Given the description of an element on the screen output the (x, y) to click on. 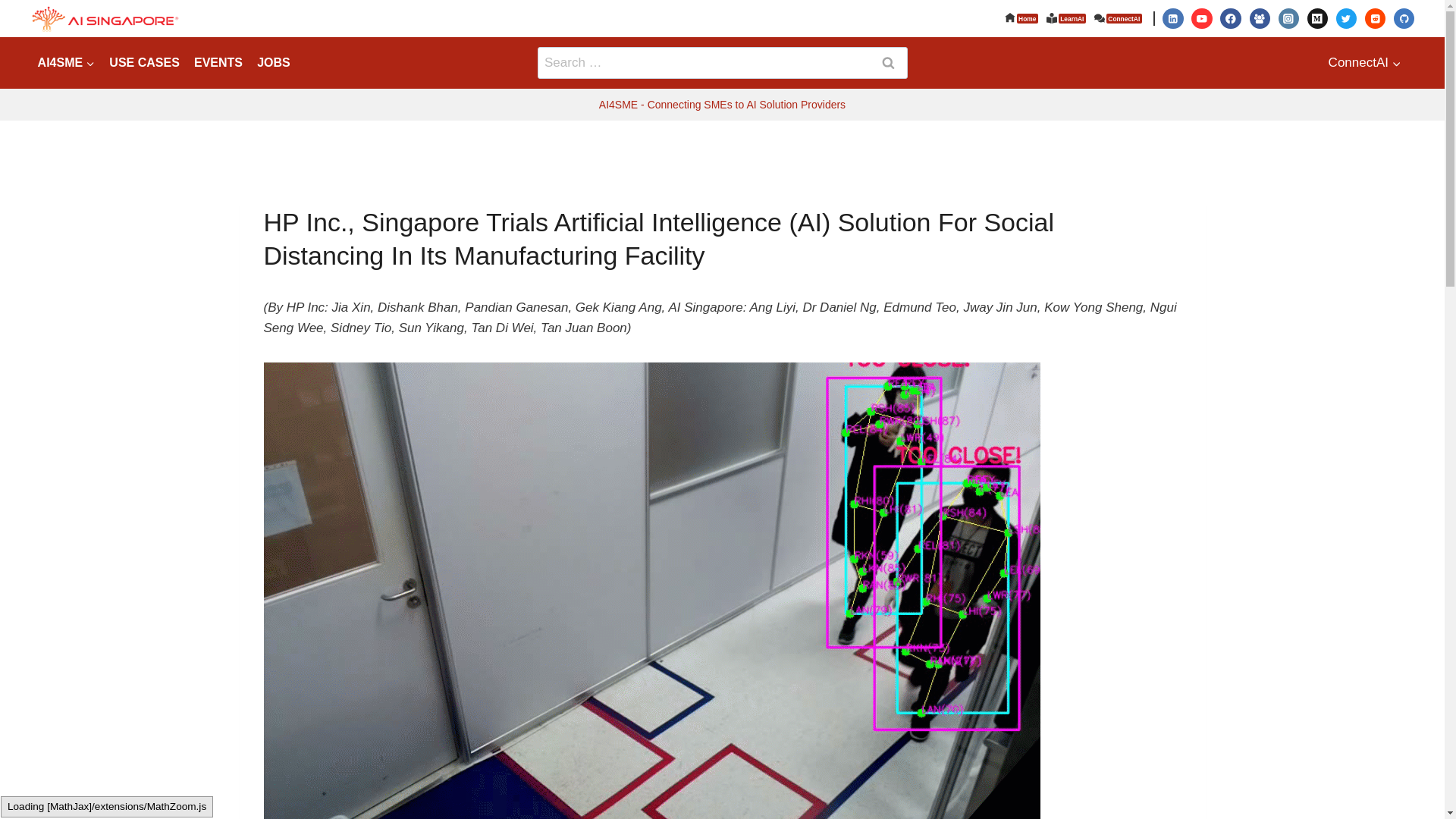
ConnectAI (1364, 63)
Search (888, 62)
Search (888, 62)
JOBS (274, 62)
Home (1021, 18)
AI4SME (65, 62)
Search (888, 62)
ConnectAI (1118, 18)
USE CASES (144, 62)
LearnAI (1065, 18)
EVENTS (217, 62)
